Given the description of an element on the screen output the (x, y) to click on. 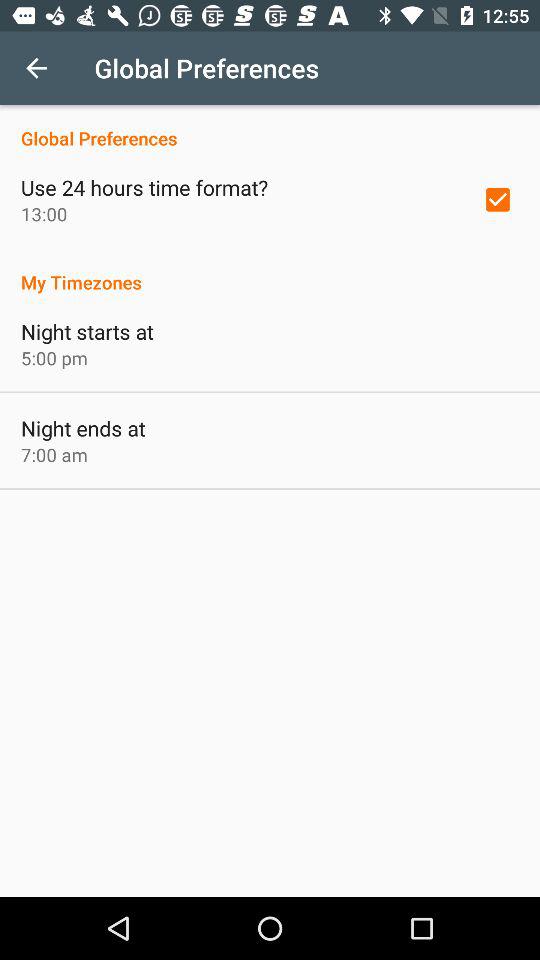
choose item below the global preferences item (497, 199)
